Given the description of an element on the screen output the (x, y) to click on. 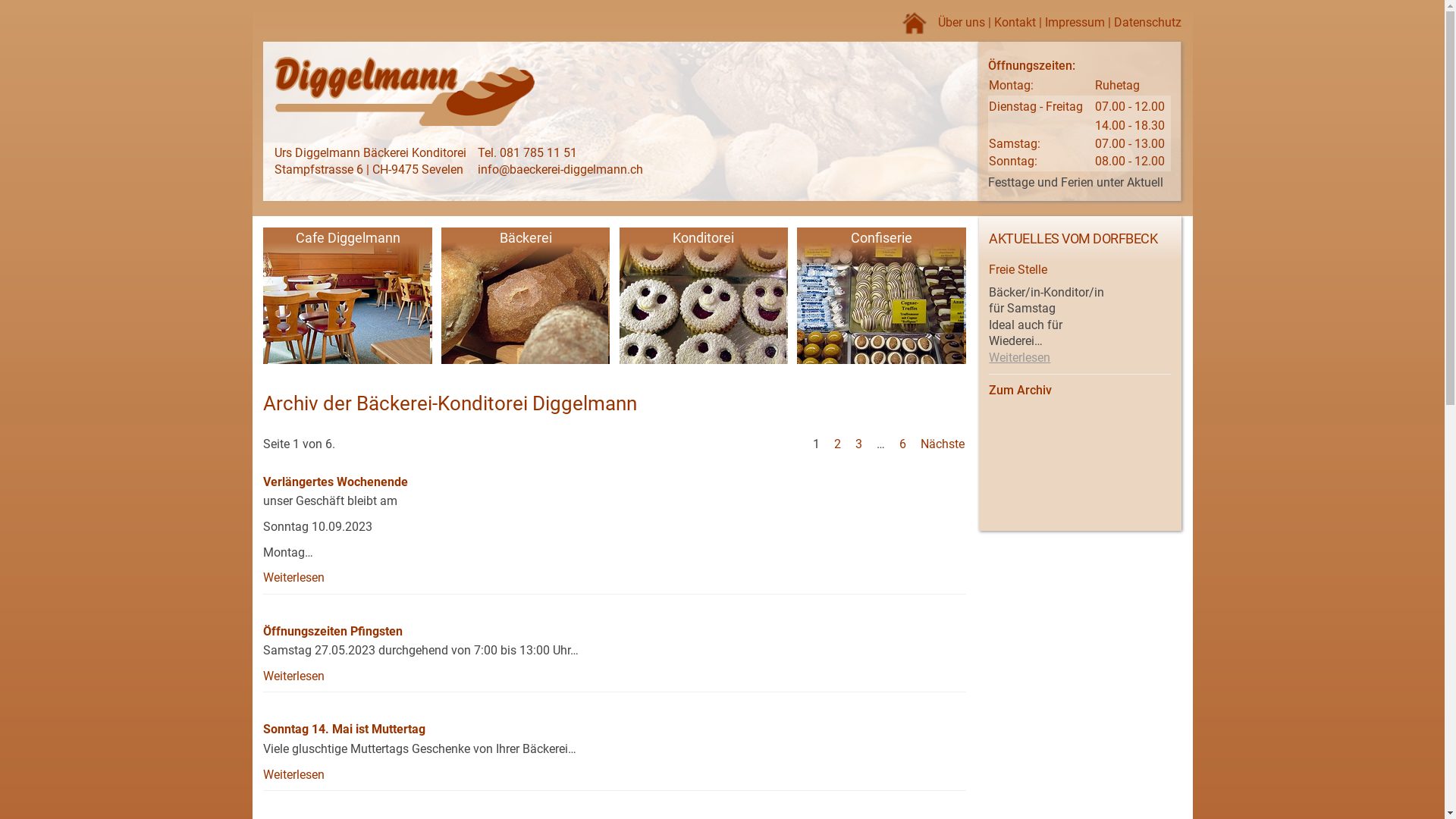
info@baeckerei-diggelmann.ch Element type: text (560, 169)
Weiterlesen Element type: text (293, 774)
Konditorei Element type: text (703, 296)
Confiserie Element type: text (881, 296)
3 Element type: text (858, 444)
6 Element type: text (902, 444)
Kontakt Element type: text (1014, 22)
Weiterlesen Element type: text (293, 577)
Zum Archiv Element type: text (1019, 389)
Datenschutz Element type: text (1147, 22)
Weiterlesen Element type: text (1019, 357)
Sonntag 14. Mai ist Muttertag Element type: text (344, 728)
Cafe Diggelmann Element type: text (347, 296)
081 785 11 51 Element type: text (538, 152)
2 Element type: text (837, 444)
Freie Stelle Element type: text (1017, 269)
Impressum Element type: text (1074, 22)
Weiterlesen Element type: text (293, 675)
